Given the description of an element on the screen output the (x, y) to click on. 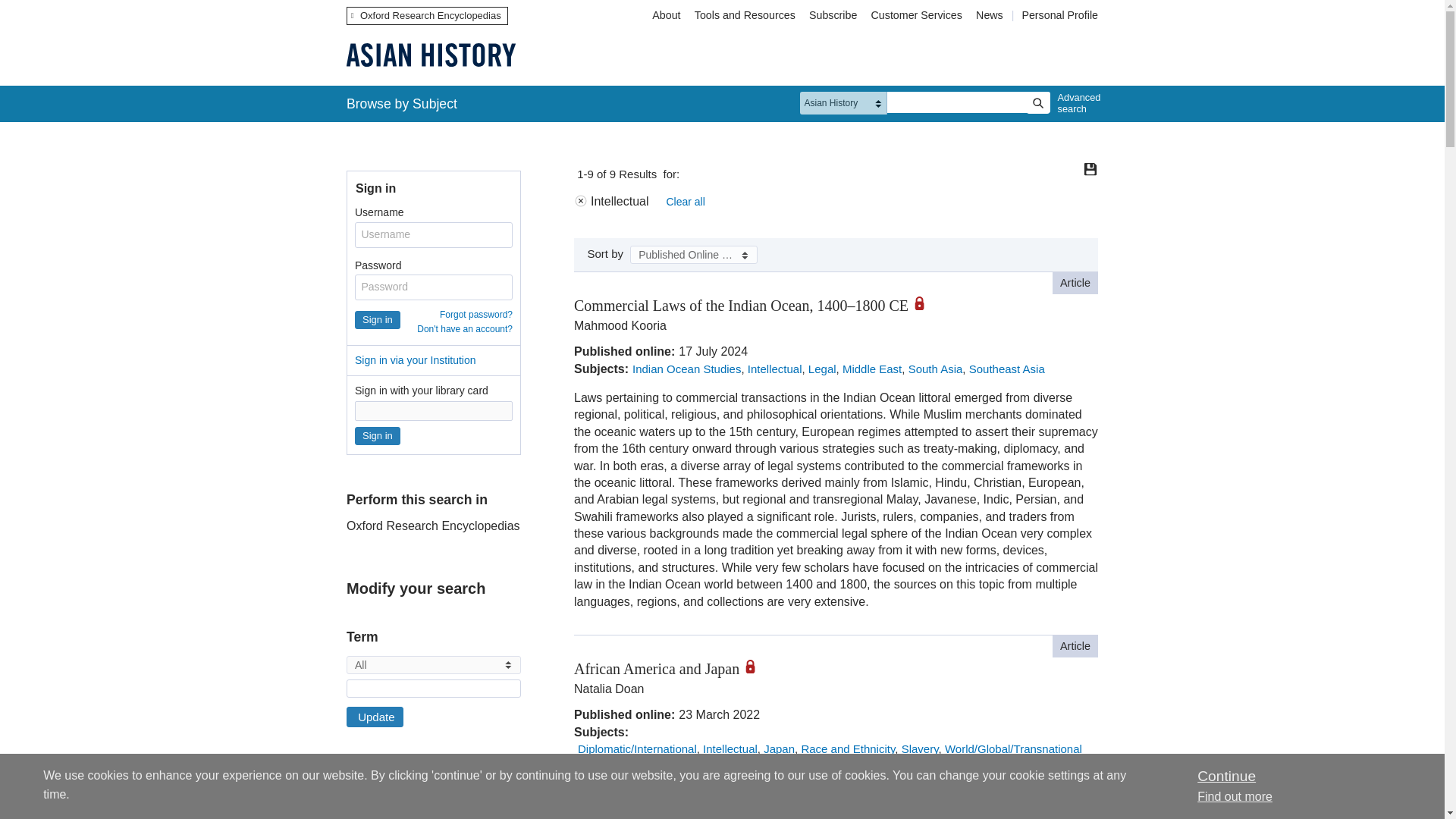
Oxford Research Encyclopedias (427, 15)
Close this message (1225, 775)
Sign in (377, 320)
Search (1037, 102)
 Update (374, 716)
restricted access (755, 666)
Tools and Resources (744, 15)
Subject Reference (351, 809)
Search (1037, 102)
Find out more (1234, 796)
Advanced search (1075, 103)
News (991, 15)
Customer Services (917, 15)
Jump to Content (55, 11)
Search (1037, 102)
